Given the description of an element on the screen output the (x, y) to click on. 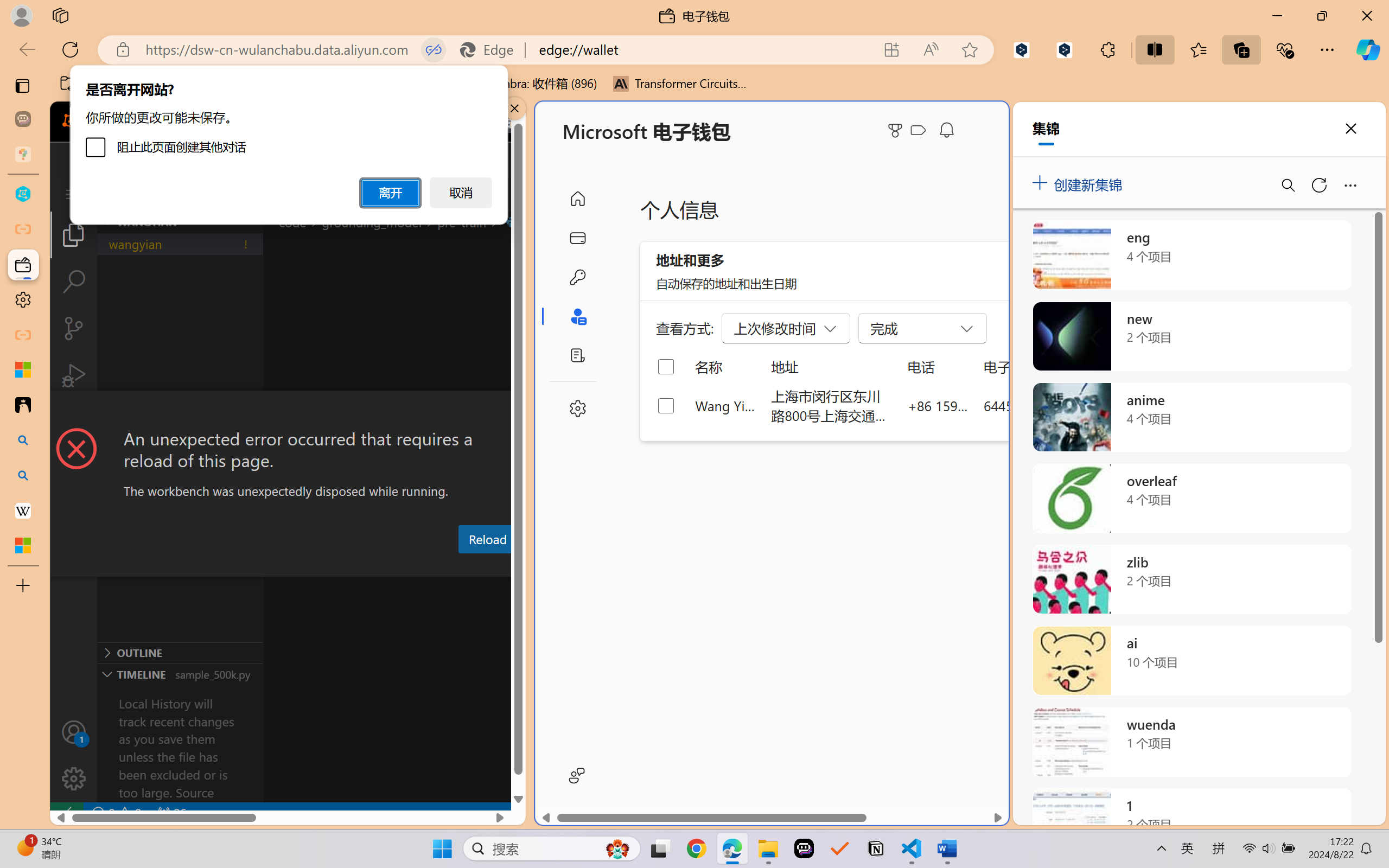
Debug Console (Ctrl+Shift+Y) (463, 565)
No Problems (115, 812)
Reload (486, 538)
Microsoft Rewards (896, 129)
+86 159 0032 4640 (938, 405)
